Given the description of an element on the screen output the (x, y) to click on. 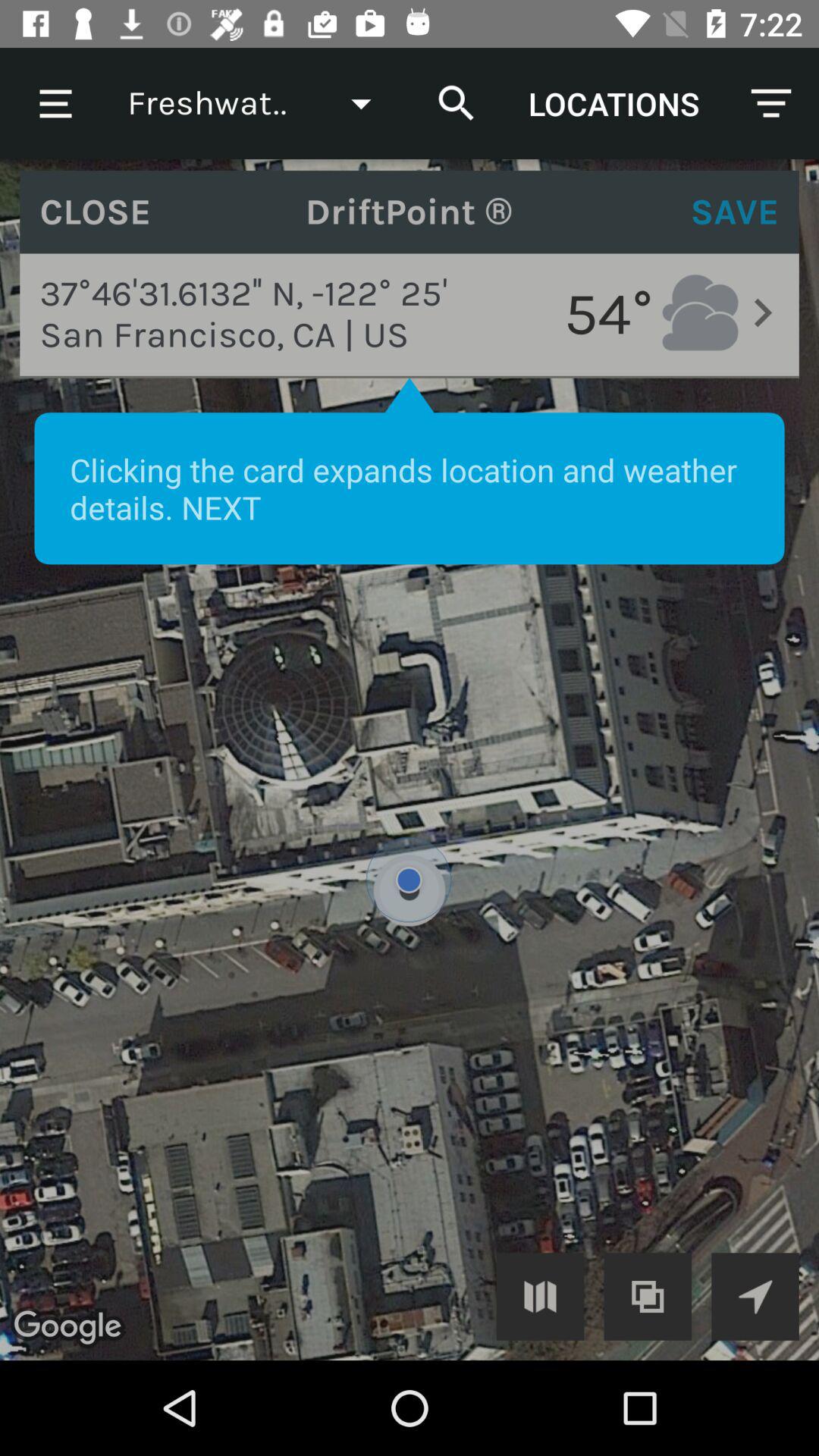
go to uparrow (755, 1296)
